Given the description of an element on the screen output the (x, y) to click on. 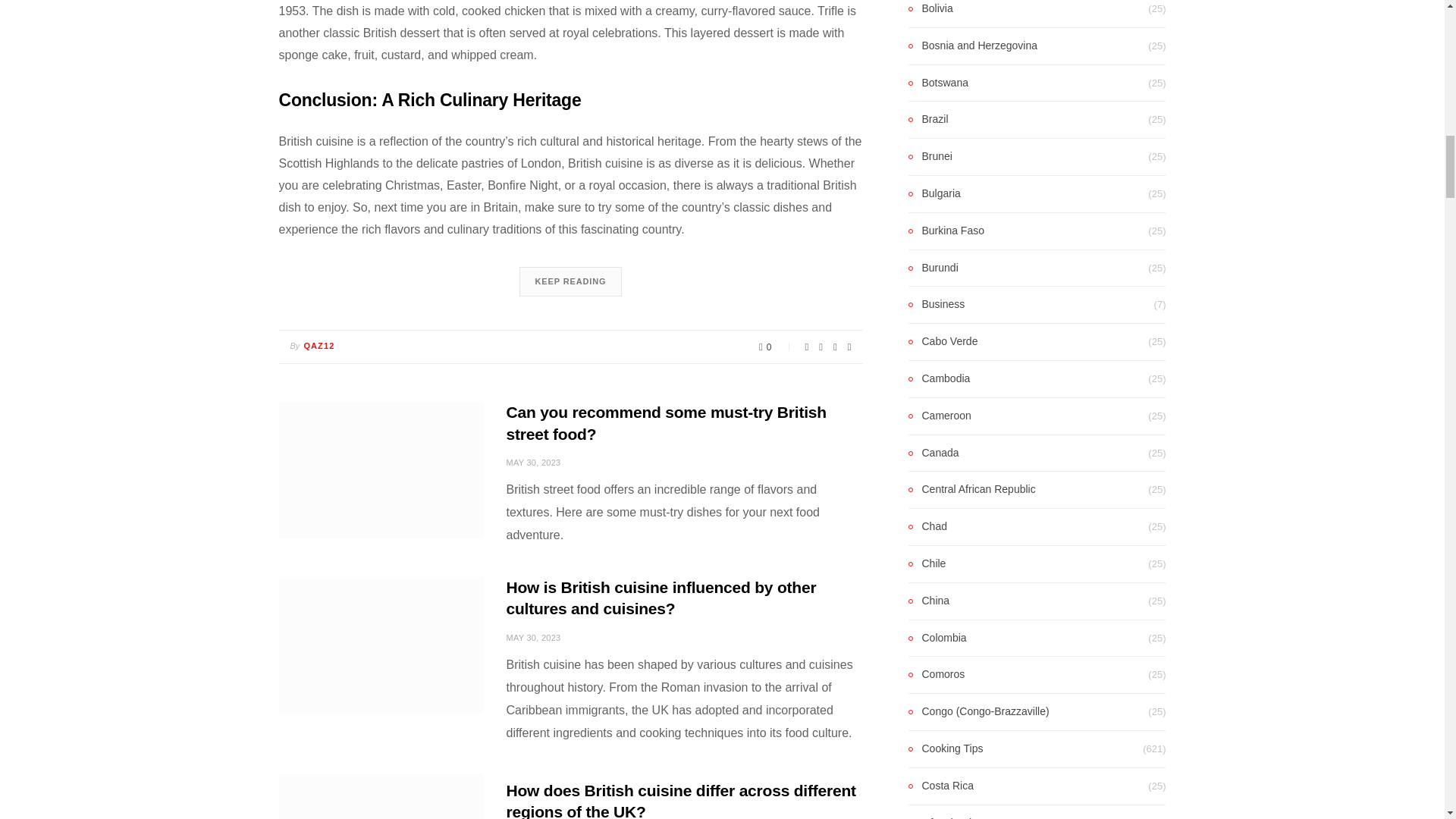
0 (775, 347)
QAZ12 (318, 345)
KEEP READING (570, 281)
Posts by qaz12 (318, 345)
